Given the description of an element on the screen output the (x, y) to click on. 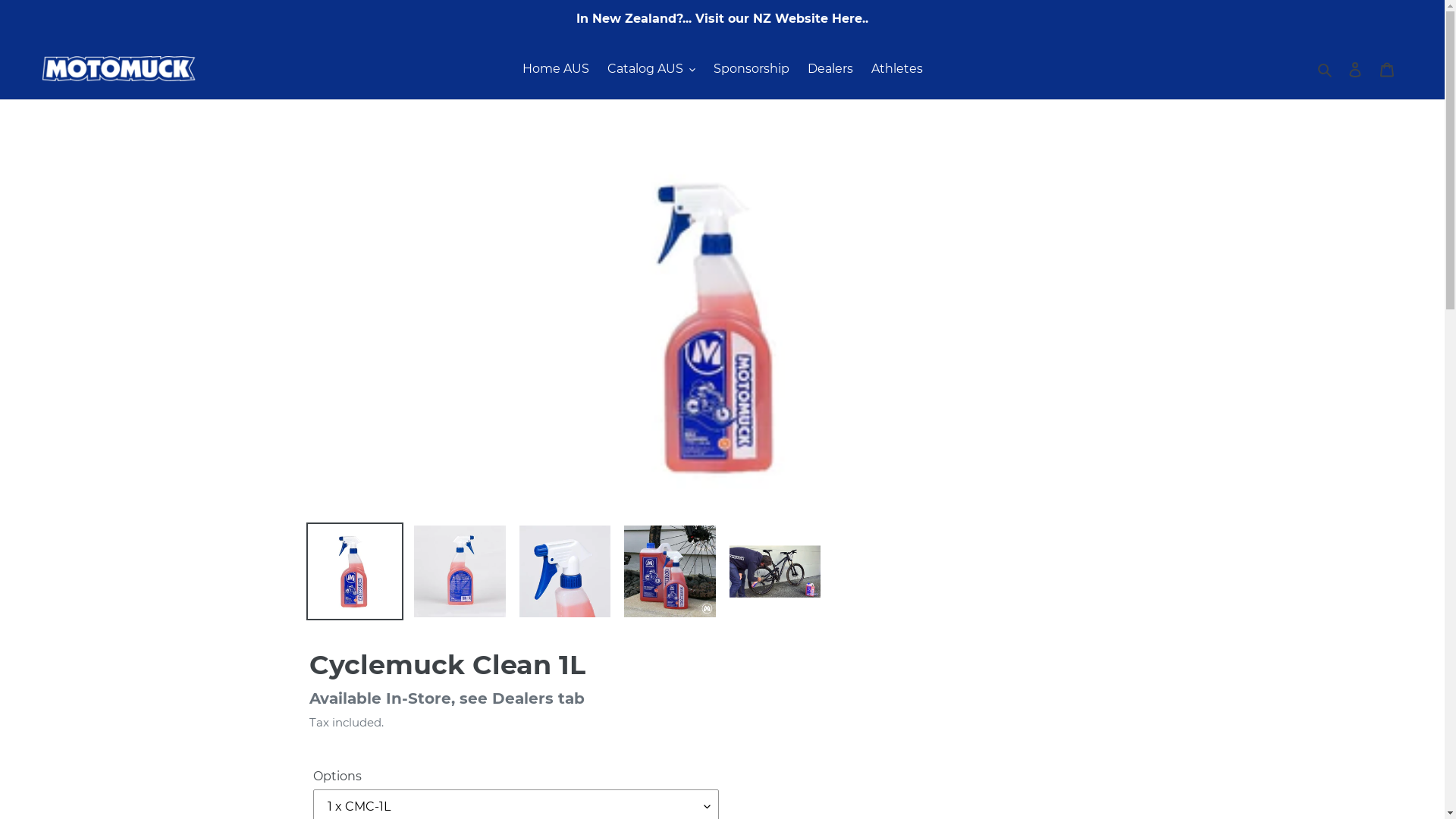
Dealers Element type: text (829, 68)
Log in Element type: text (1355, 68)
Athletes Element type: text (895, 68)
Catalog AUS Element type: text (650, 68)
Cart Element type: text (1386, 68)
Sponsorship Element type: text (750, 68)
Home AUS Element type: text (555, 68)
Search Element type: text (1325, 68)
In New Zealand?... Visit our NZ Website Here.. Element type: text (722, 18)
